Given the description of an element on the screen output the (x, y) to click on. 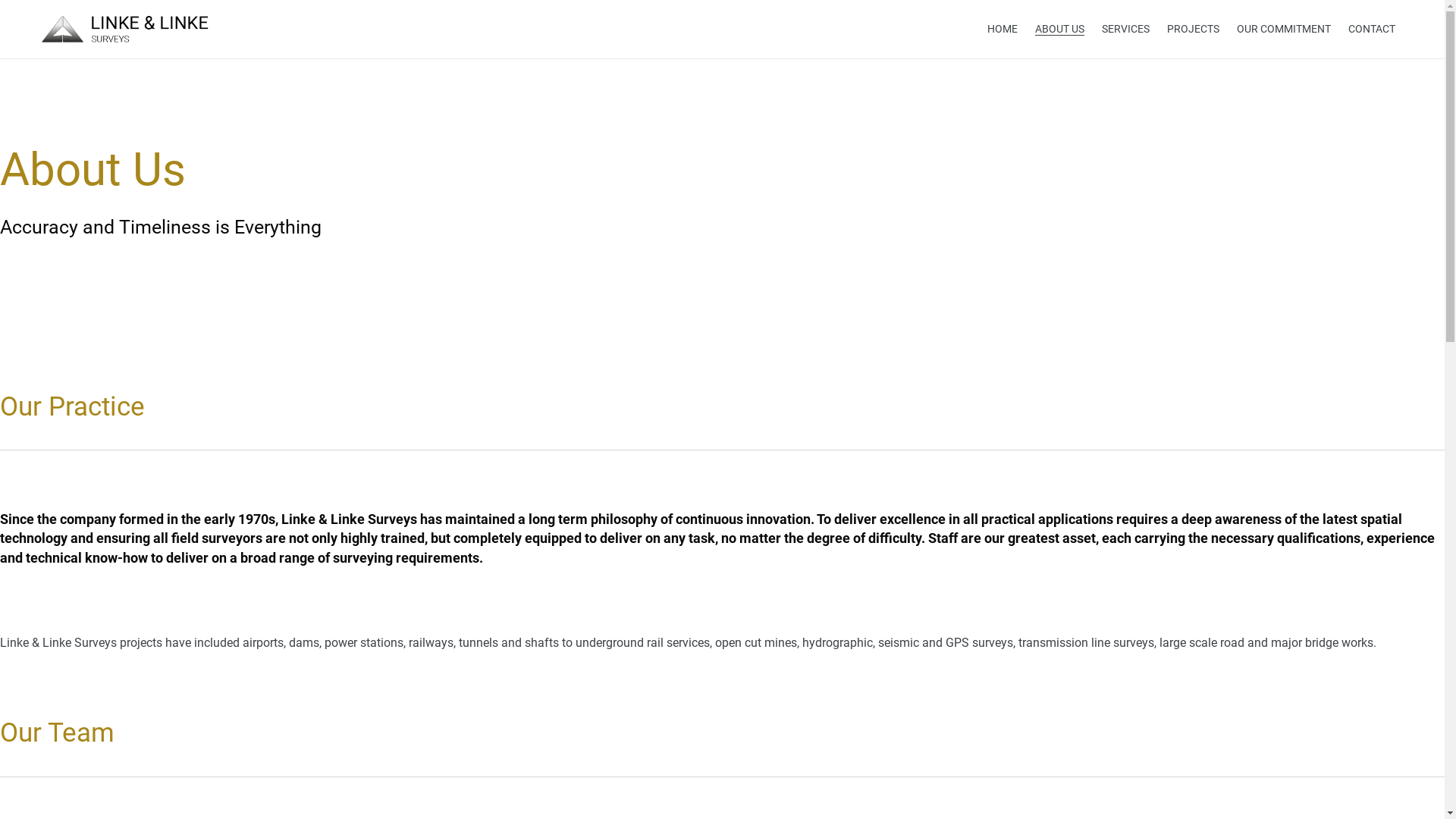
HOME Element type: text (1002, 28)
OUR COMMITMENT Element type: text (1283, 28)
PROJECTS Element type: text (1192, 28)
SERVICES Element type: text (1125, 28)
ABOUT US Element type: text (1059, 28)
CONTACT Element type: text (1371, 28)
